Given the description of an element on the screen output the (x, y) to click on. 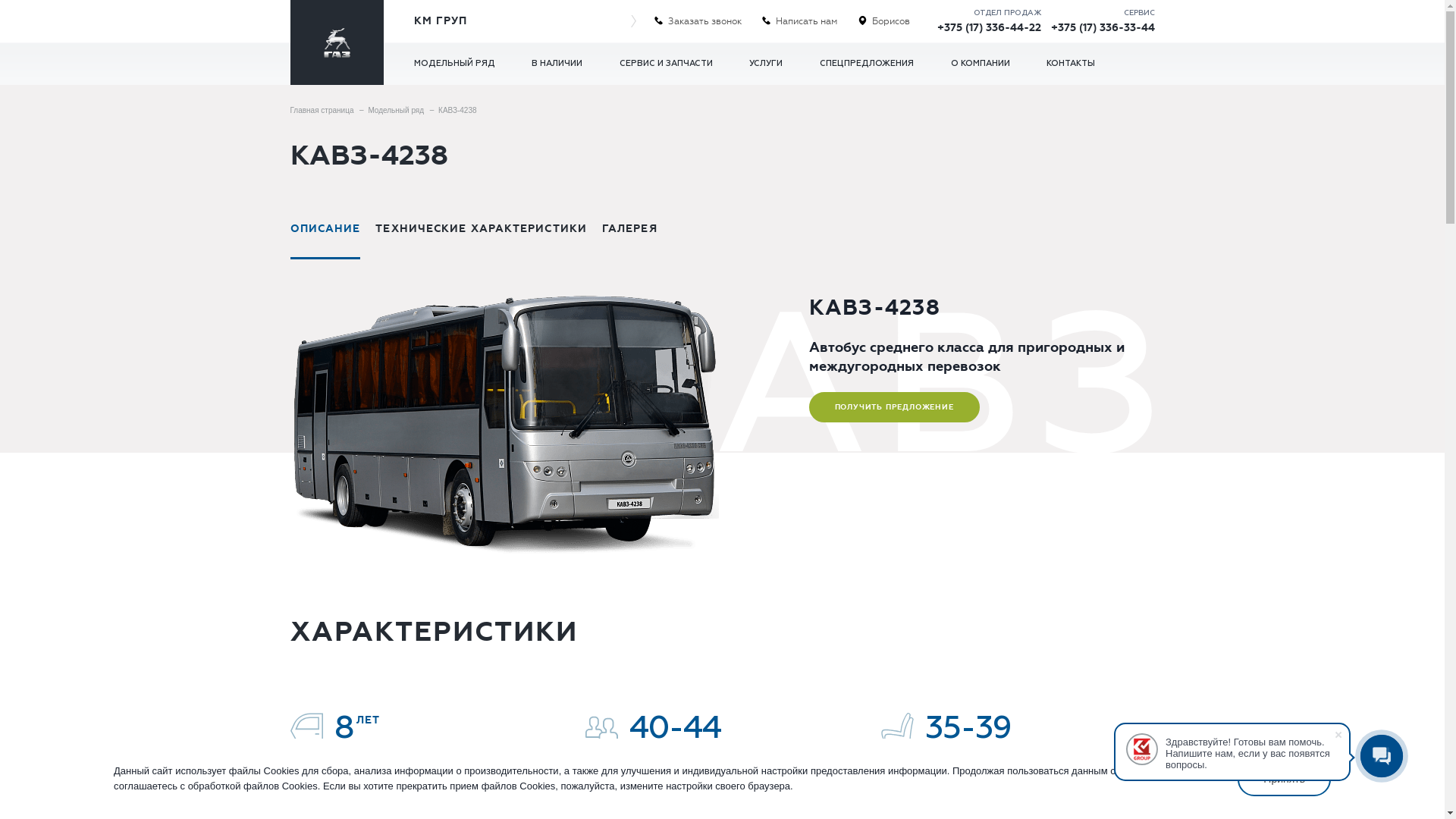
+375 (17) 336-44-22 Element type: text (989, 27)
+375 (17) 336-33-44 Element type: text (1102, 27)
